Given the description of an element on the screen output the (x, y) to click on. 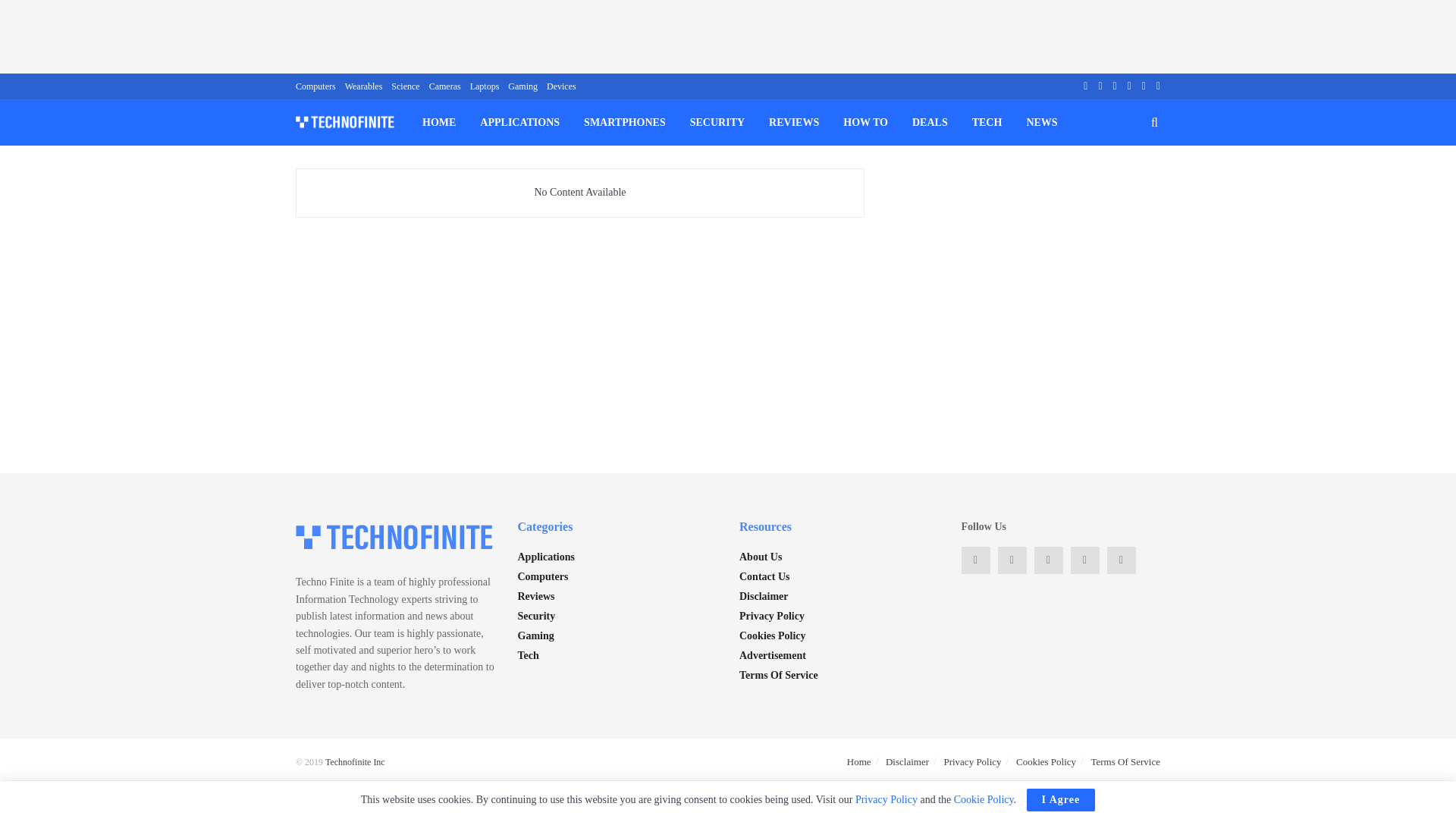
Computers (315, 86)
Devices (561, 86)
Cameras (445, 86)
Gaming (522, 86)
Technofinite Inc (354, 761)
NEWS (1040, 122)
HOW TO (865, 122)
Advertisement (1029, 305)
Wearables (363, 86)
HOME (438, 122)
Laptops (484, 86)
Advertisement (727, 33)
DEALS (929, 122)
SECURITY (717, 122)
TECH (986, 122)
